Given the description of an element on the screen output the (x, y) to click on. 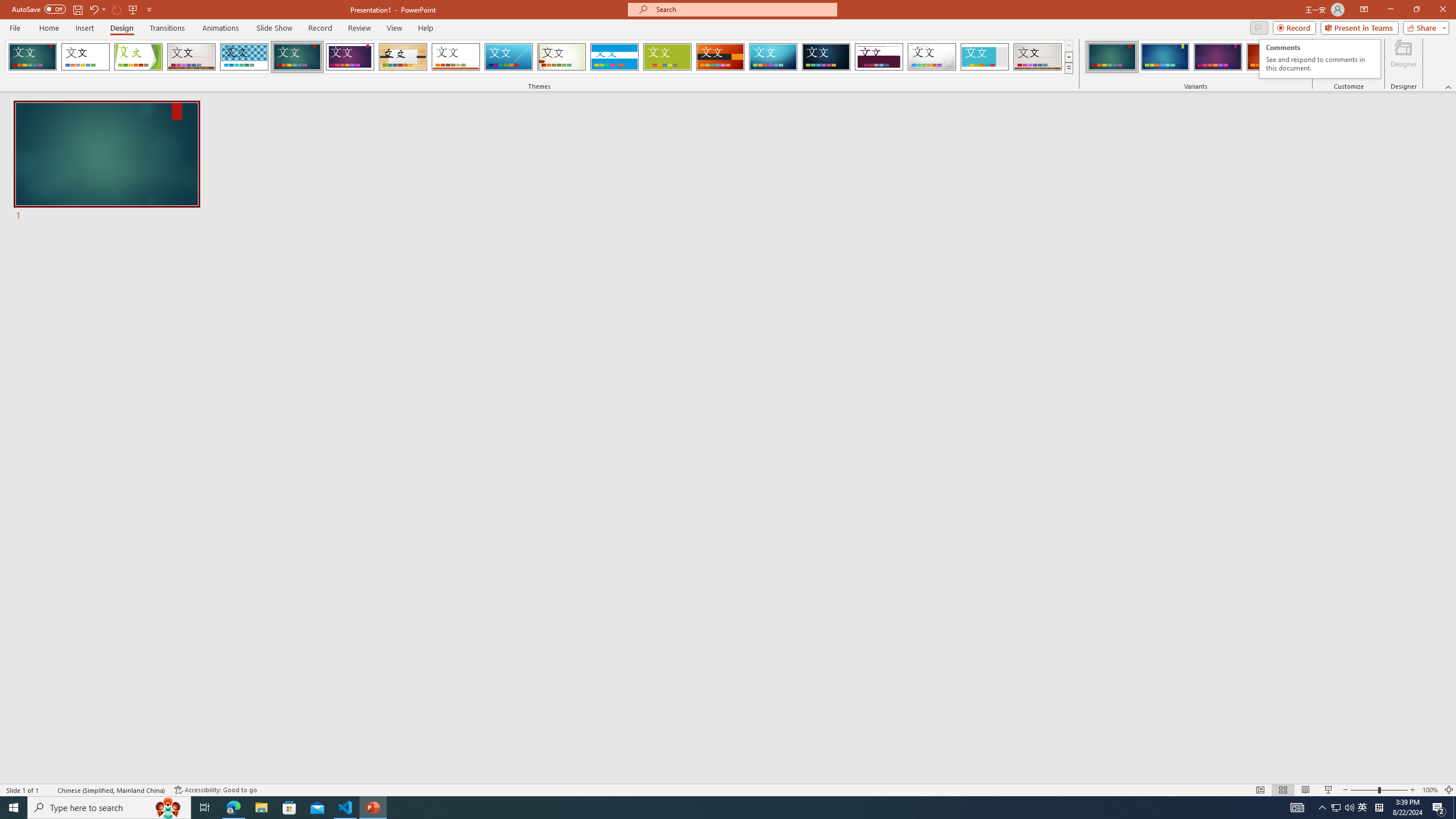
Ion Variant 2 (1164, 56)
Ion Boardroom Loading Preview... (350, 56)
Banded Loading Preview... (614, 56)
Slice Loading Preview... (508, 56)
